Given the description of an element on the screen output the (x, y) to click on. 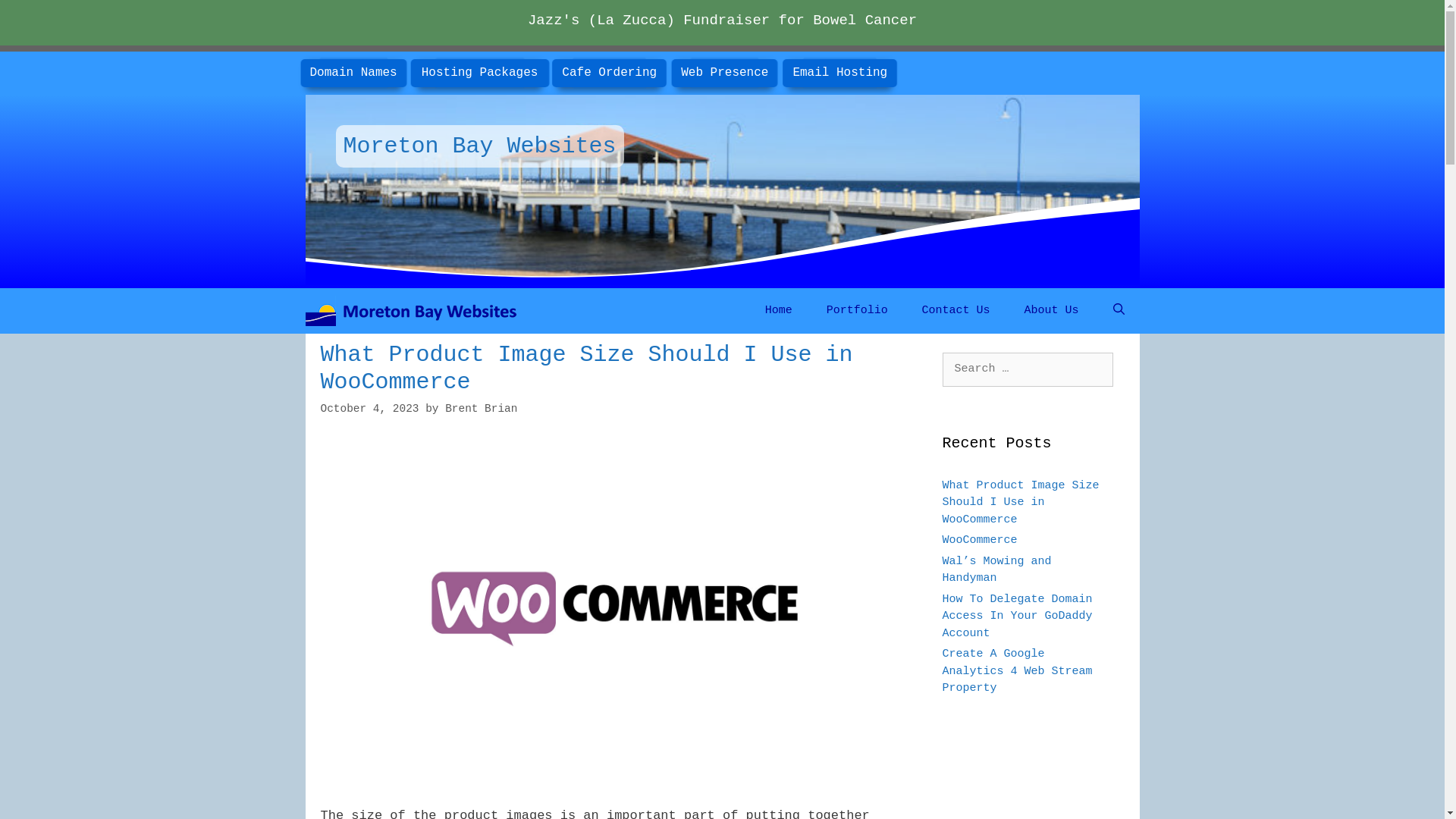
Moreton Bay Websites Element type: hover (411, 310)
Hosting Packages Element type: text (479, 73)
Portfolio Element type: text (857, 310)
Cafe Ordering Element type: text (609, 73)
Email Hosting Element type: text (839, 73)
WooCommerce Element type: text (978, 539)
What Product Image Size Should I Use in WooCommerce Element type: text (1019, 502)
Search for: Element type: hover (1026, 369)
Jazz's (La Zucca) Fundraiser for Bowel Cancer Element type: text (721, 20)
Home Element type: text (778, 310)
Moreton Bay Websites Element type: hover (415, 310)
Contact Us Element type: text (955, 310)
Brent Brian Element type: text (481, 408)
Search Element type: text (36, 17)
Web Presence Element type: text (724, 73)
Domain Names Element type: text (352, 73)
About Us Element type: text (1051, 310)
How To Delegate Domain Access In Your GoDaddy Account Element type: text (1016, 616)
Create A Google Analytics 4 Web Stream Property Element type: text (1016, 670)
What Product Image Size Should I Use in WooCommerce Element type: text (586, 368)
